Given the description of an element on the screen output the (x, y) to click on. 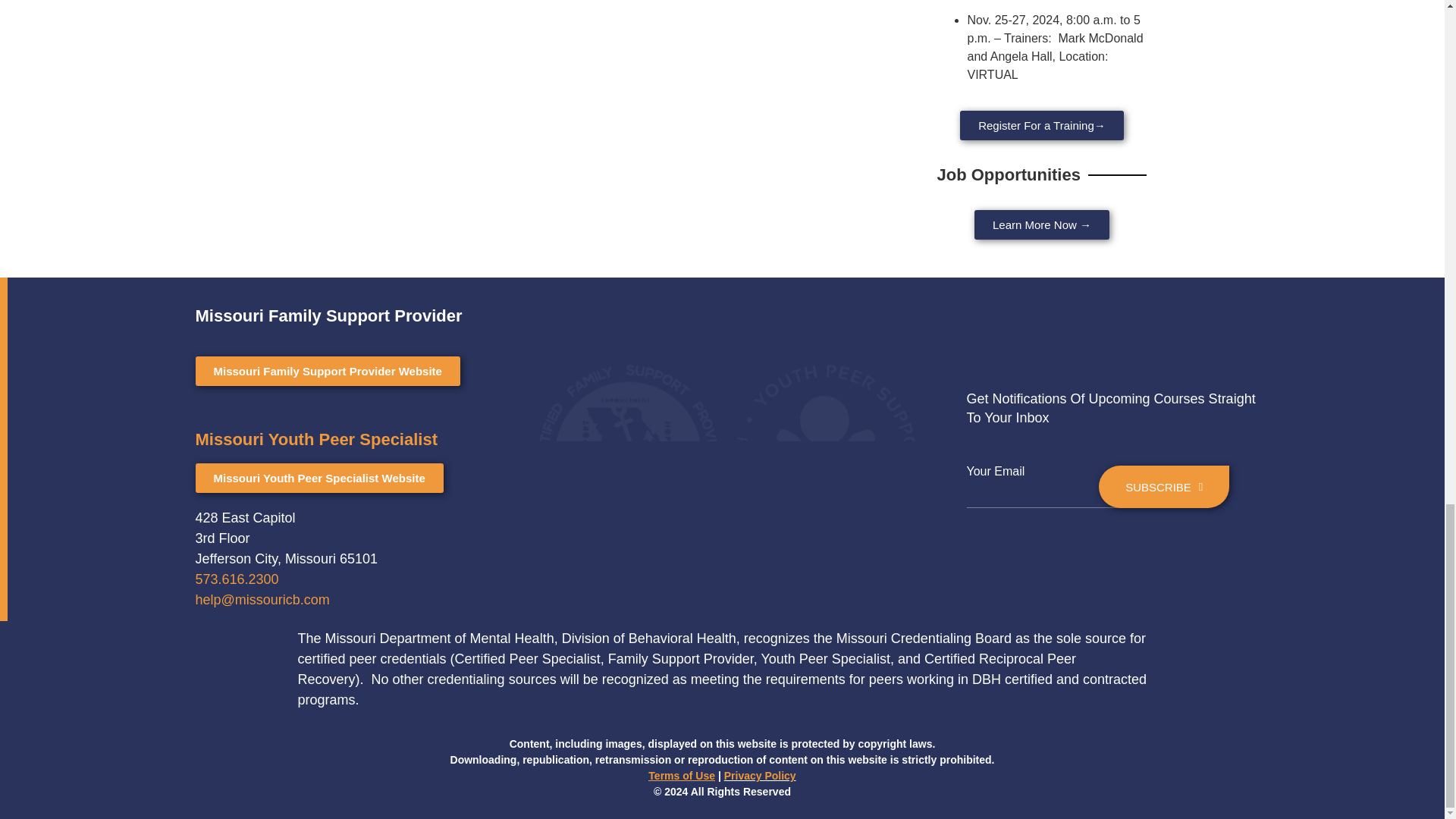
Terms of Use (680, 775)
Missouri Youth Peer Specialist Website (319, 478)
Missouri Youth Peer Specialist (316, 438)
573.616.2300 (237, 579)
Missouri Family Support Provider (329, 324)
SUBSCRIBE (1163, 486)
Privacy Policy (759, 775)
Missouri Family Support Provider Website (327, 370)
